Given the description of an element on the screen output the (x, y) to click on. 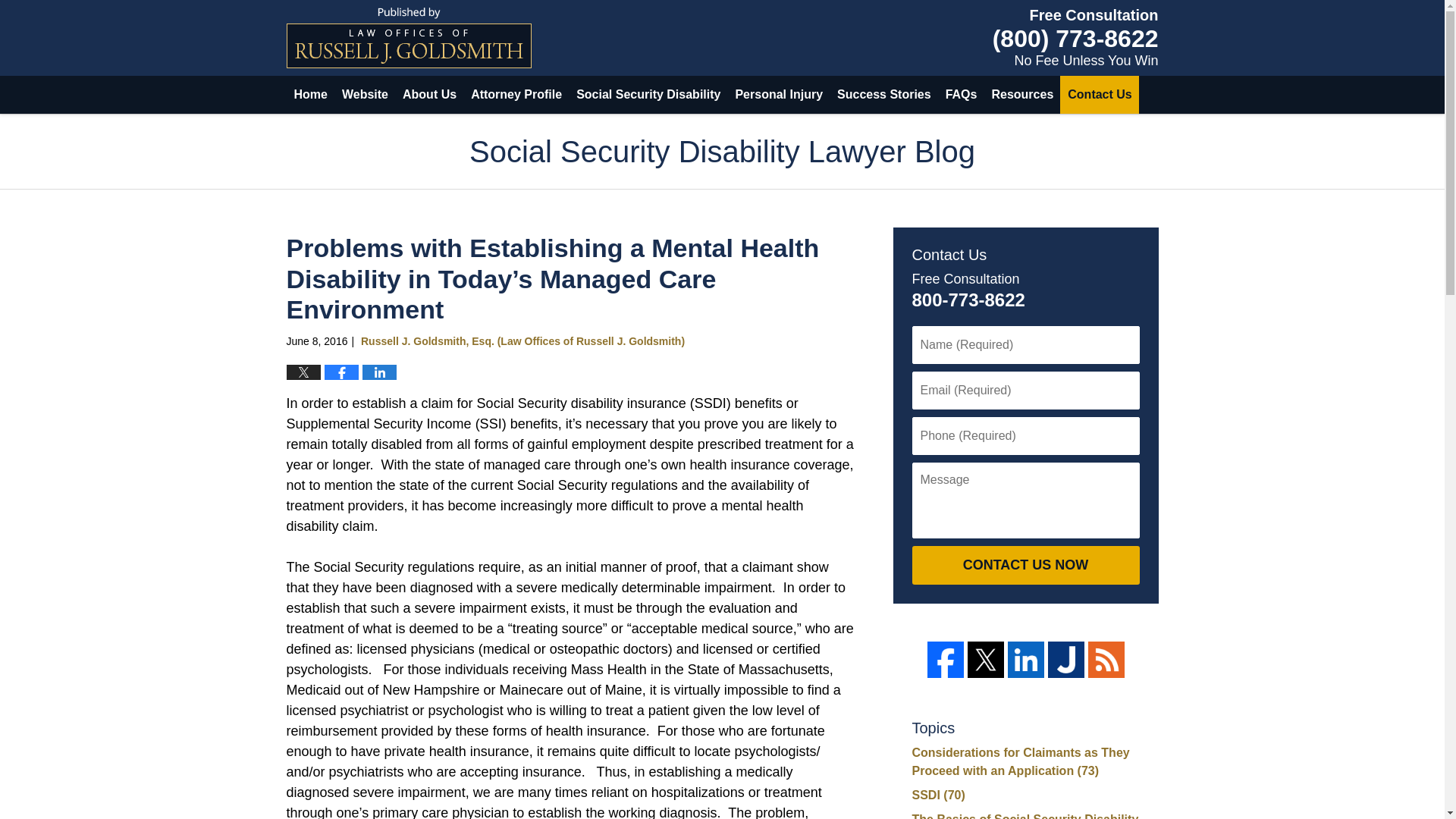
Attorney Profile (516, 94)
Resources (1021, 94)
Please enter a valid phone number. (1024, 435)
Social Security Disability Lawyer Blog (408, 37)
FAQs (960, 94)
About Us (428, 94)
Social Security Disability (647, 94)
Home (310, 94)
LinkedIn (1025, 659)
Website (364, 94)
Contact Us (1098, 94)
Feed (1105, 659)
Facebook (944, 659)
Personal Injury (777, 94)
Success Stories (883, 94)
